Given the description of an element on the screen output the (x, y) to click on. 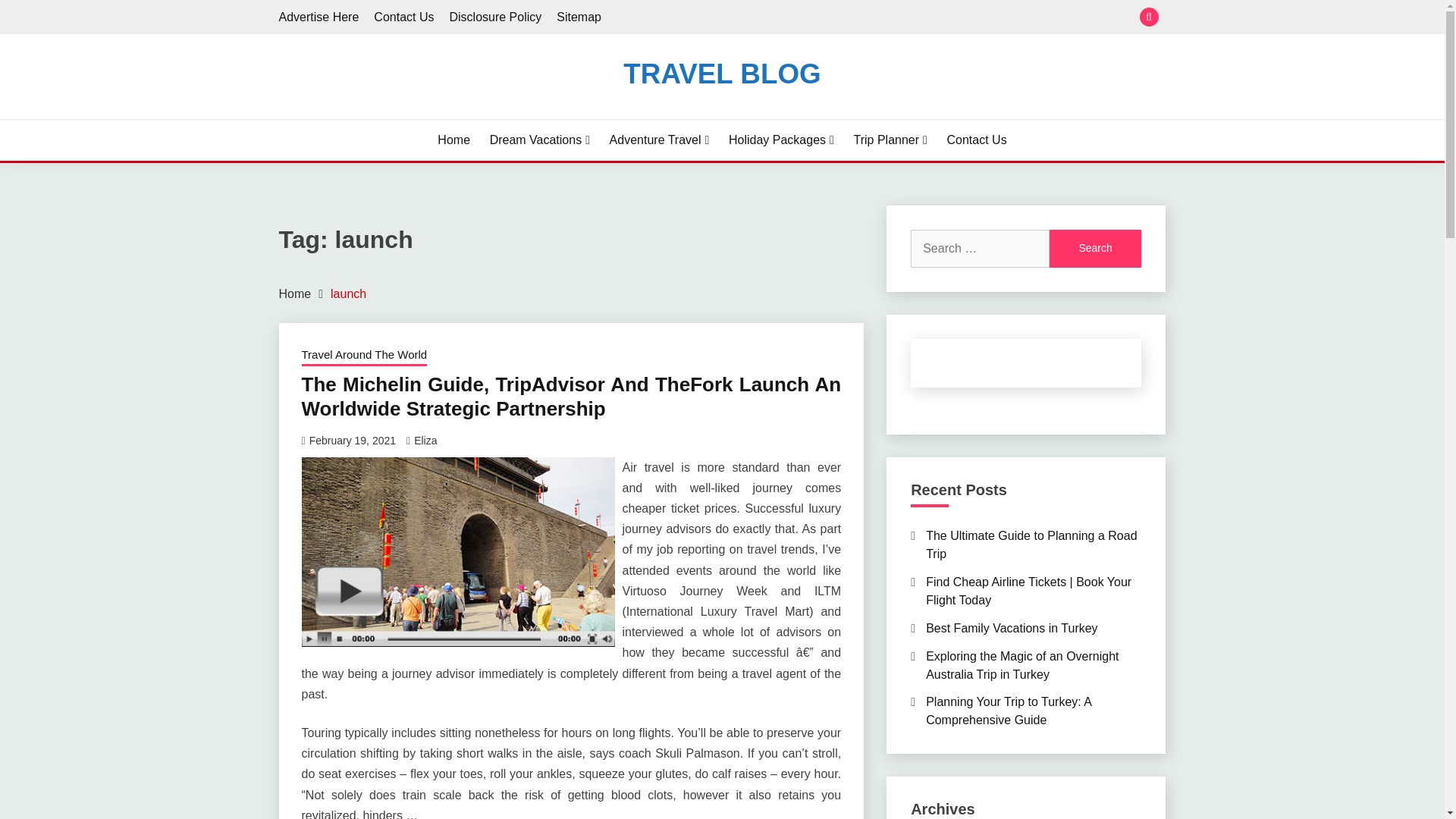
Holiday Packages (781, 140)
TRAVEL BLOG (722, 73)
Home (454, 140)
launch (348, 293)
Trip Planner (890, 140)
Contact Us (976, 140)
Adventure Travel (660, 140)
Disclosure Policy (494, 16)
Contact Us (403, 16)
Sitemap (578, 16)
Home (295, 293)
Search (1095, 248)
Advertise Here (319, 16)
Travel Around The World (364, 356)
